Given the description of an element on the screen output the (x, y) to click on. 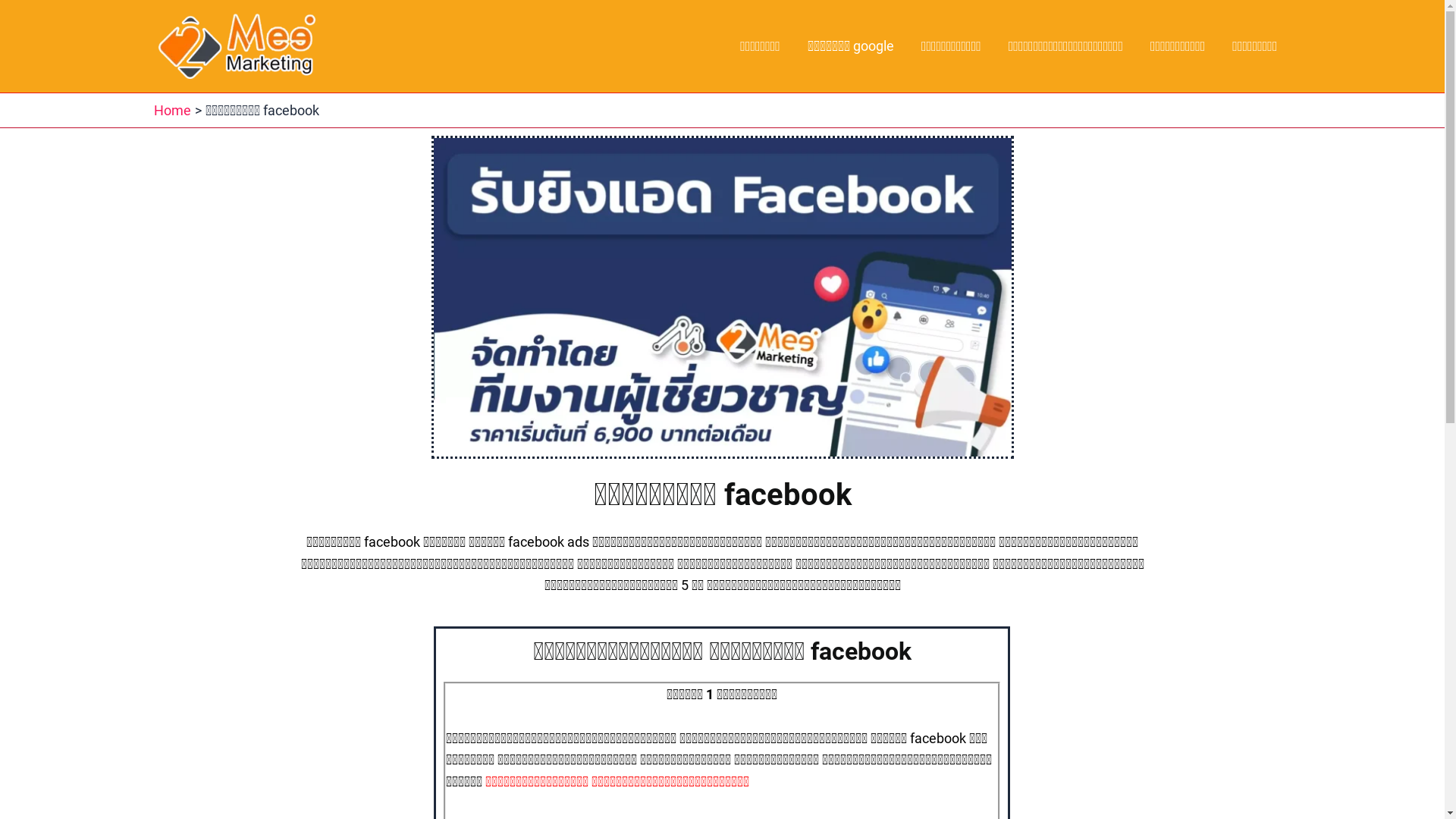
Home Element type: text (171, 110)
